Given the description of an element on the screen output the (x, y) to click on. 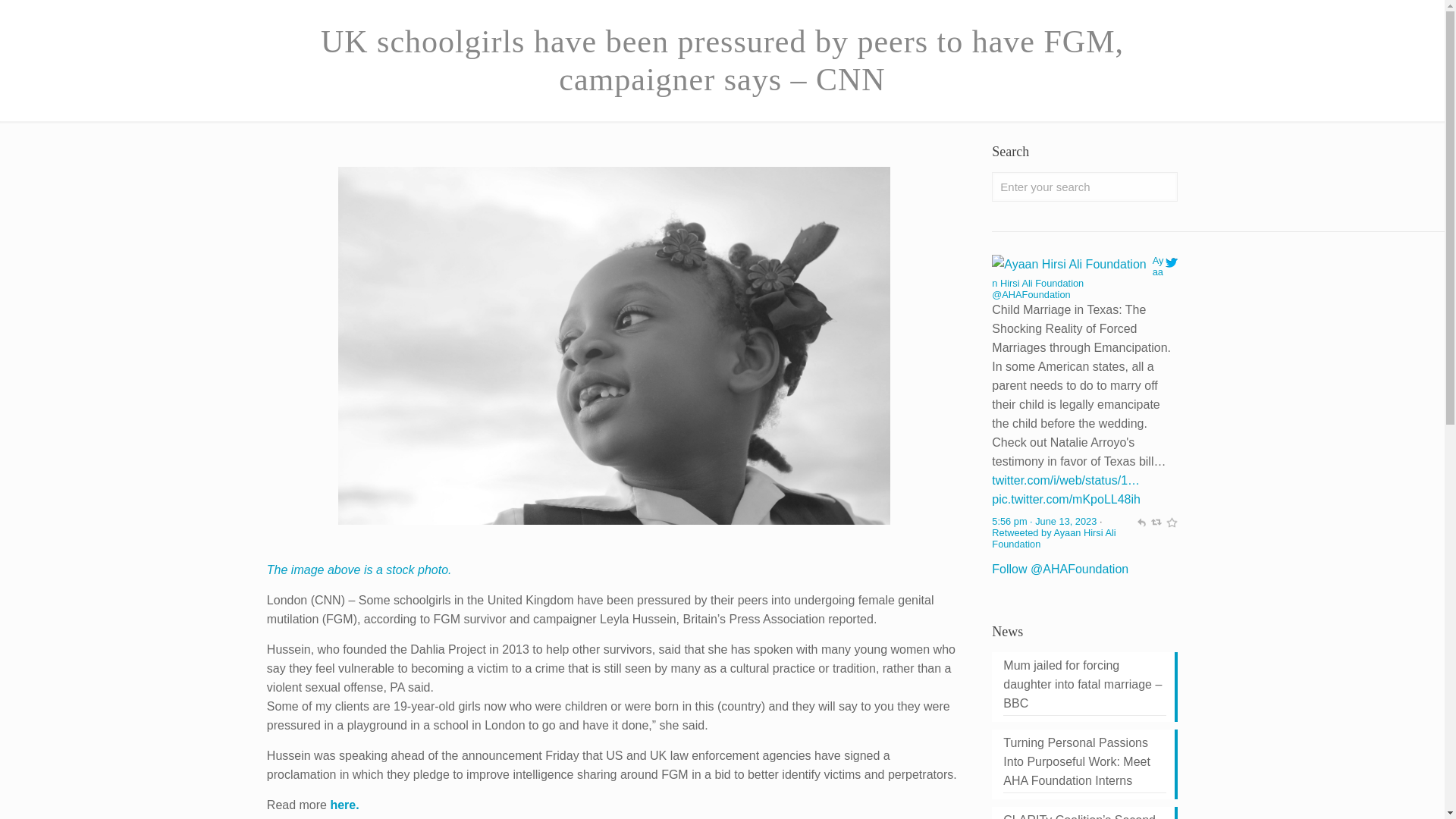
Ayaan Hirsi Ali Foundation (1053, 538)
favorite (1170, 521)
retweet (1155, 521)
reply (1141, 521)
Ayaan Hirsi Ali Foundation (1068, 264)
Ayaan Hirsi Ali Foundation (1077, 271)
Ayaan Hirsi Ali Foundation (1030, 294)
